Given the description of an element on the screen output the (x, y) to click on. 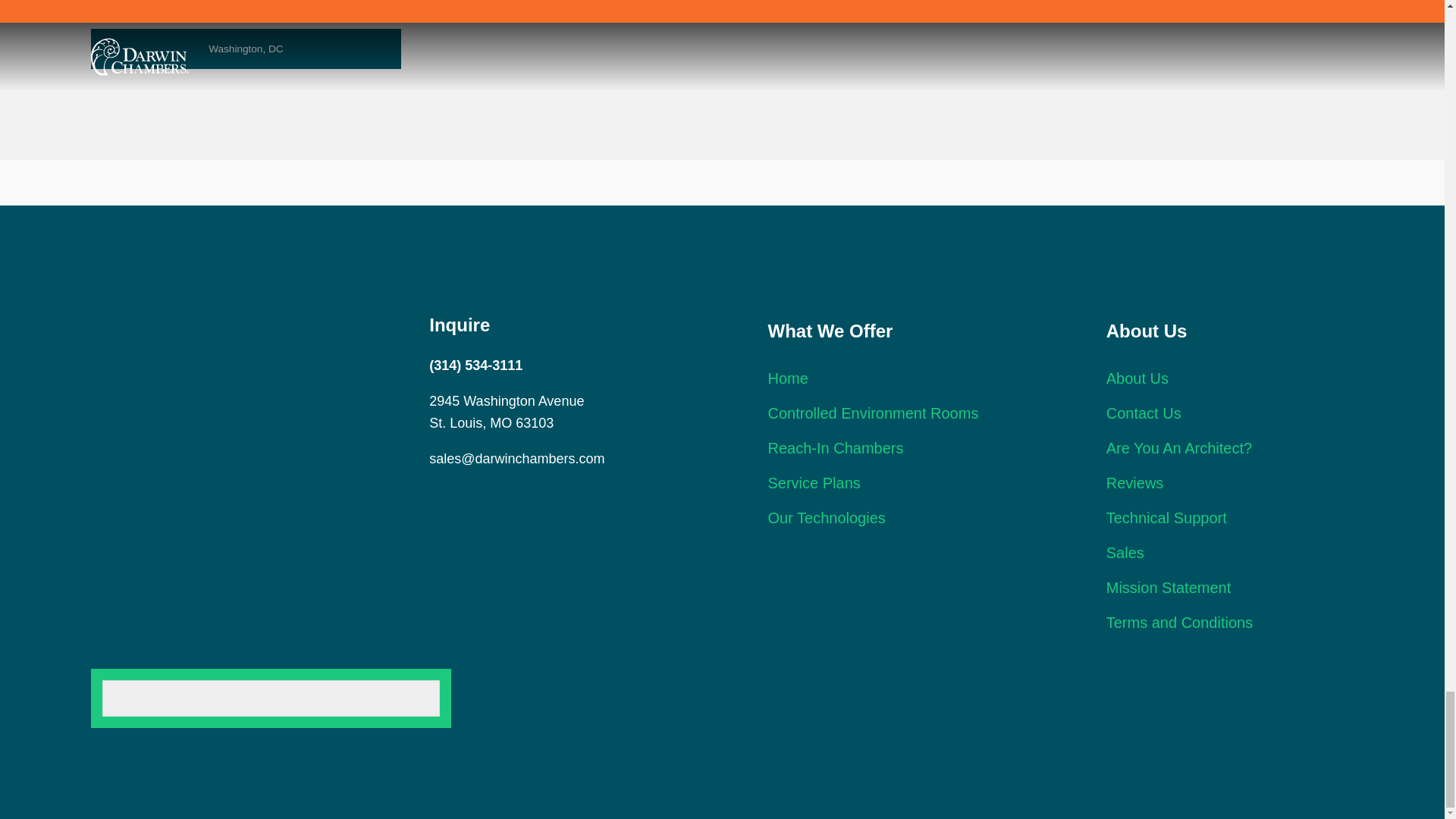
About Us (1137, 378)
Are You An Architect? (1179, 447)
Controlled Environment Rooms (872, 412)
Contact Us (1143, 412)
Service Plans (813, 483)
Reach-In Chambers (834, 447)
Our Technologies (826, 517)
Home (787, 378)
Reviews (1134, 483)
